Given the description of an element on the screen output the (x, y) to click on. 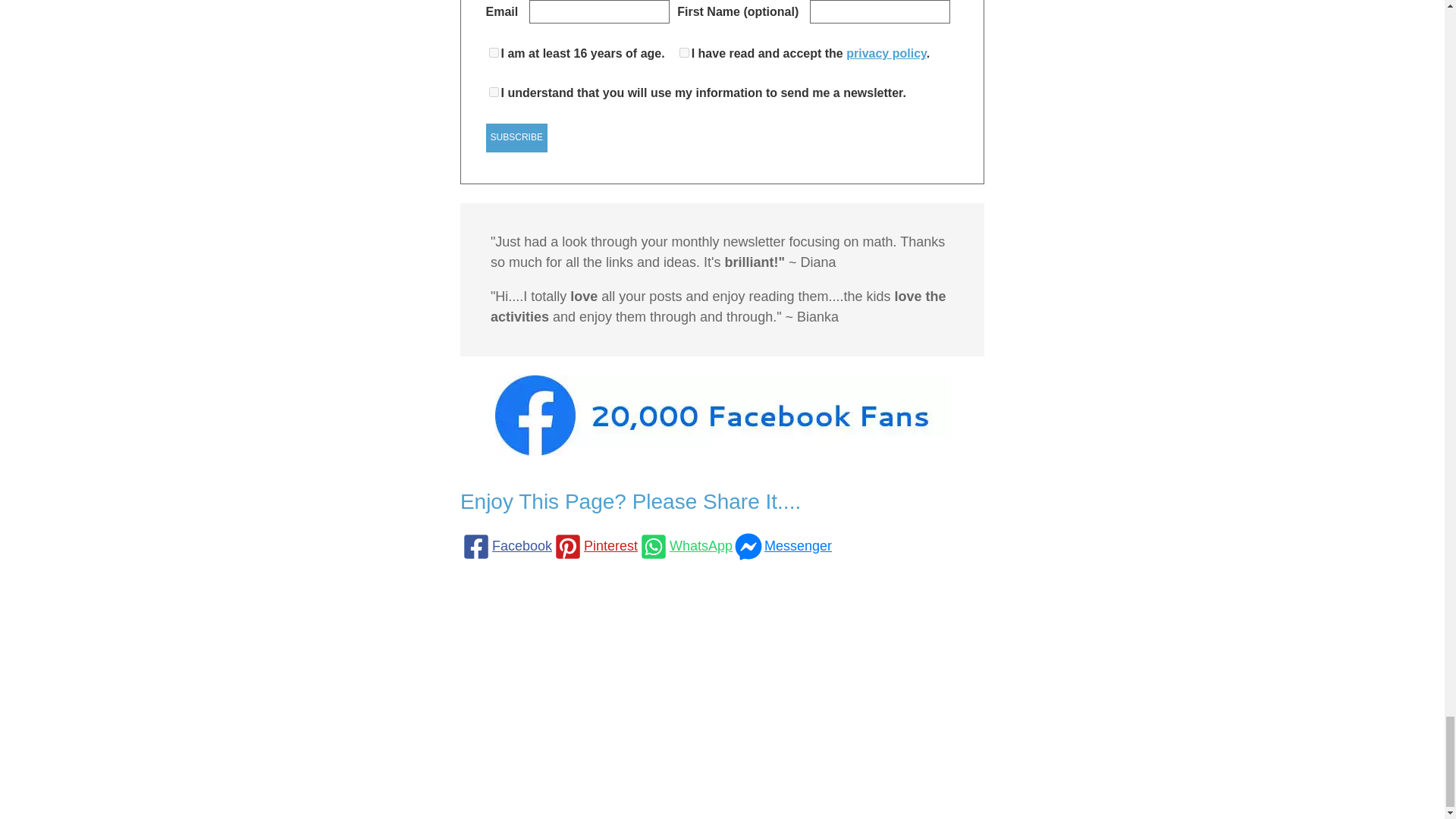
on (494, 91)
on (683, 52)
18,000 Facebook Fans (722, 415)
on (494, 52)
